Given the description of an element on the screen output the (x, y) to click on. 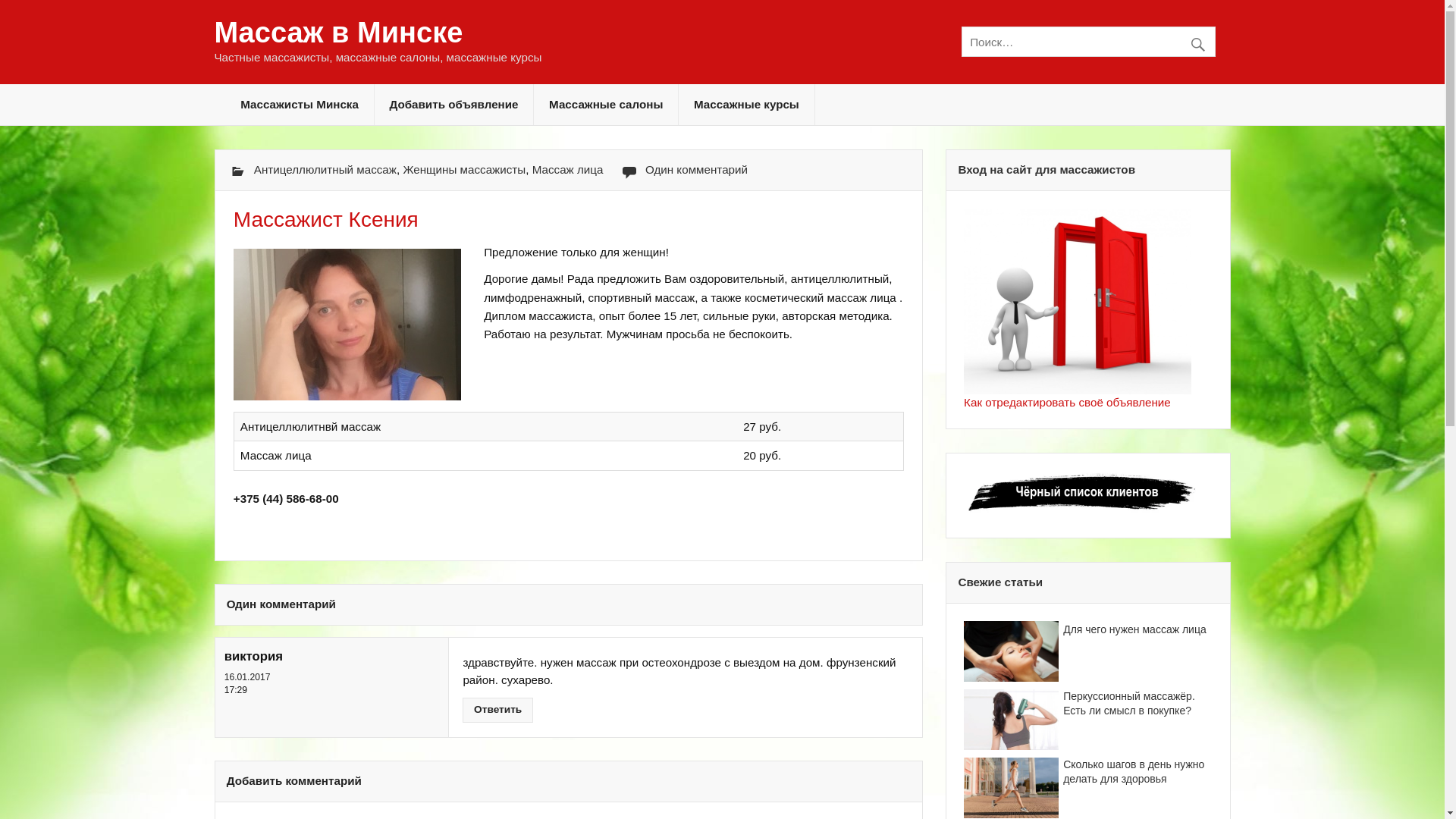
16.01.2017 Element type: text (247, 676)
+375 (44) 586-68-00 Element type: text (285, 498)
